Given the description of an element on the screen output the (x, y) to click on. 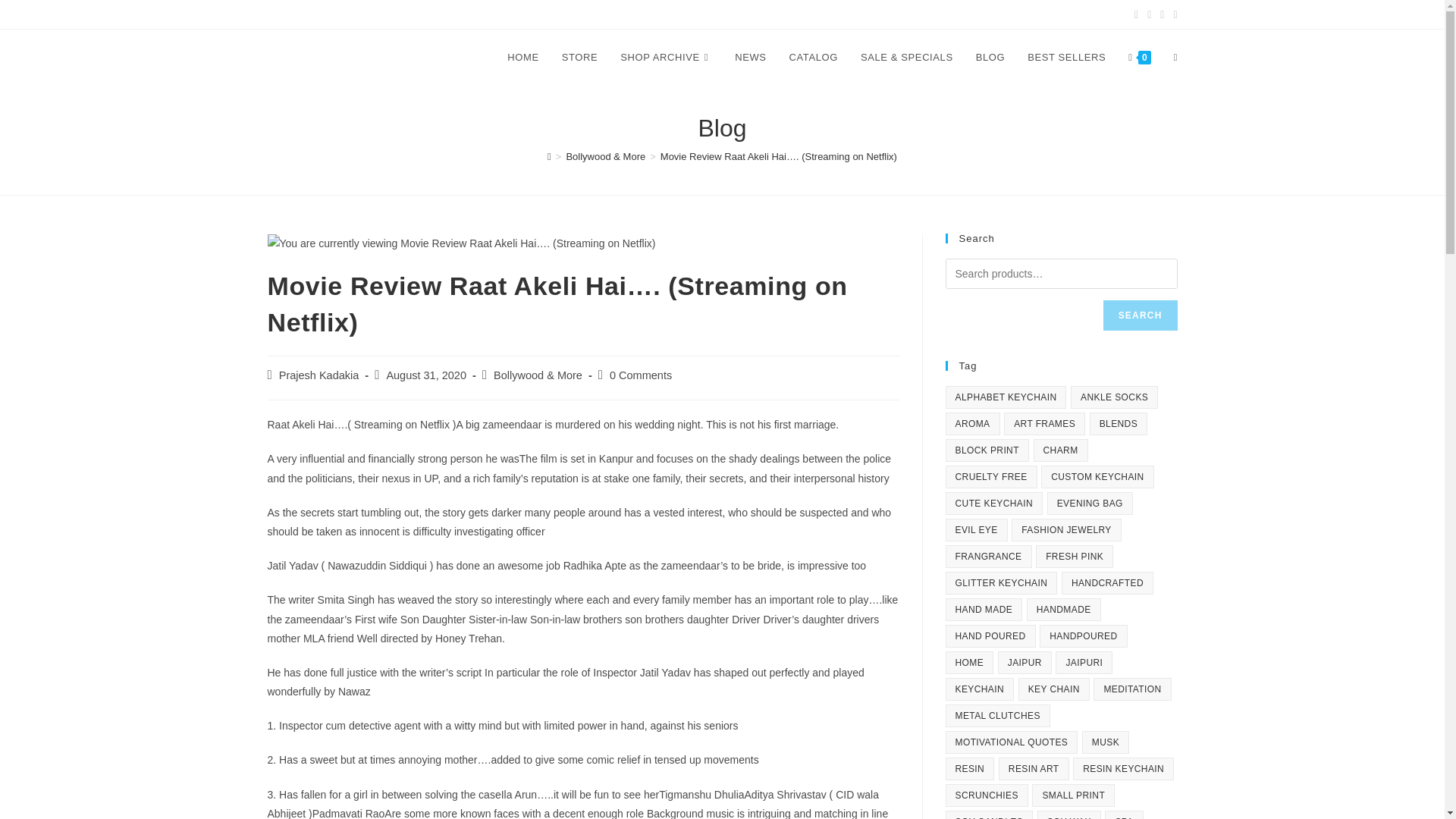
SHOP ARCHIVE (665, 57)
MY ACCOUNT (298, 13)
Posts by Prajesh Kadakia (319, 375)
Blog (989, 57)
STORE (580, 57)
HOME (523, 57)
SHOP (357, 13)
CONTACT US (413, 13)
